Given the description of an element on the screen output the (x, y) to click on. 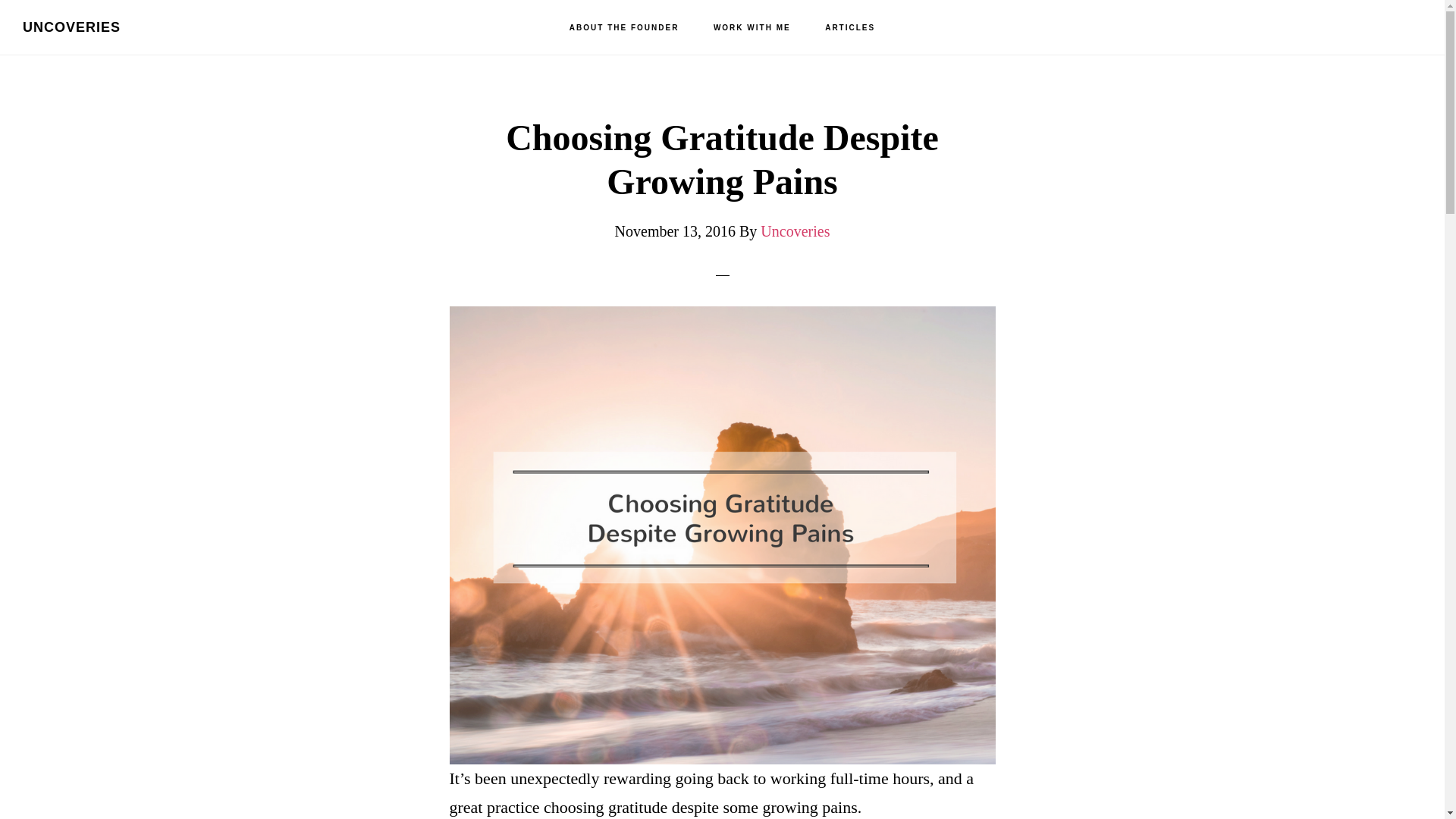
Uncoveries (794, 230)
ABOUT THE FOUNDER (624, 27)
ARTICLES (849, 27)
UNCOVERIES (71, 27)
WORK WITH ME (752, 27)
